Given the description of an element on the screen output the (x, y) to click on. 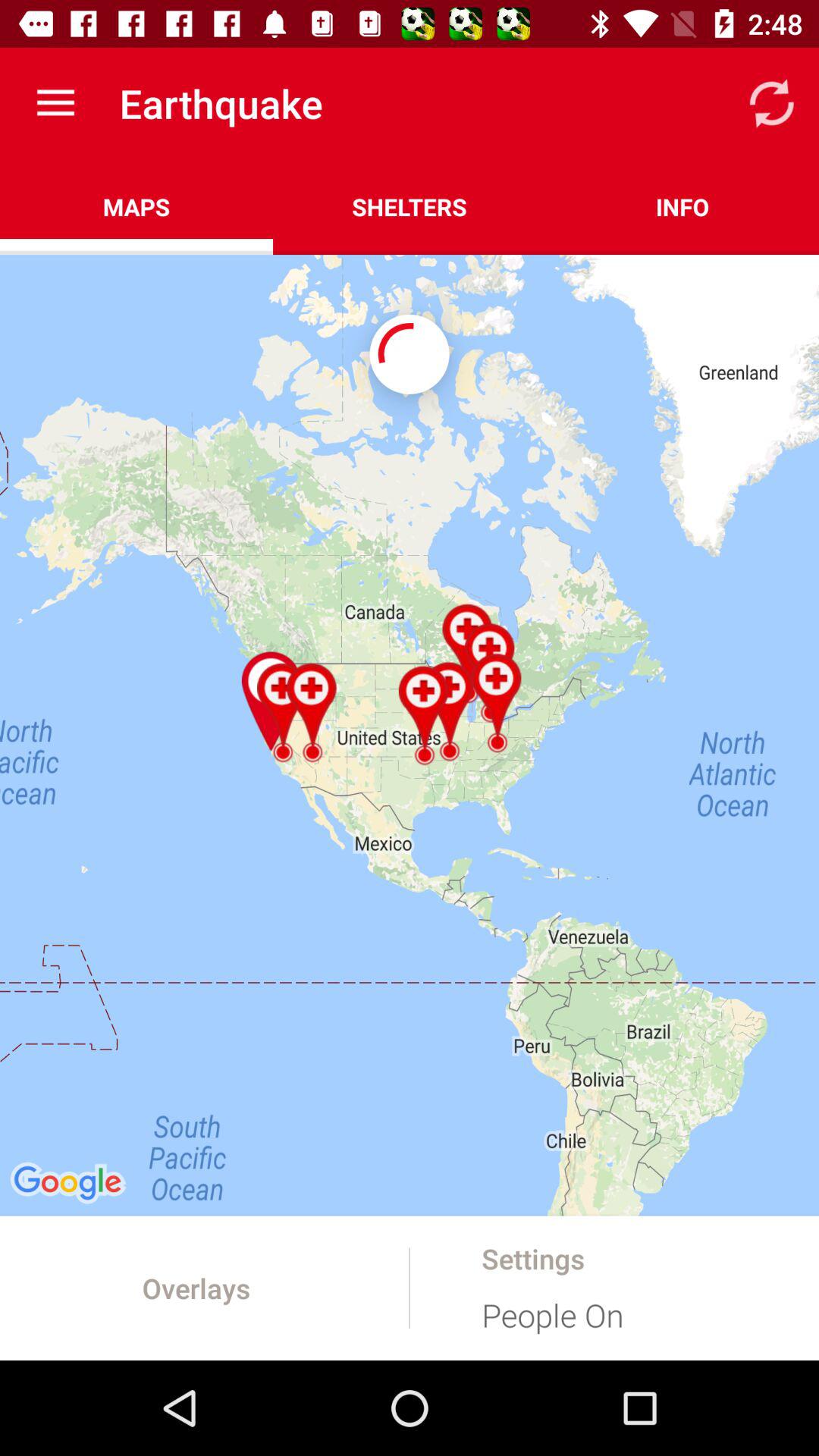
select app next to earthquake icon (55, 103)
